Given the description of an element on the screen output the (x, y) to click on. 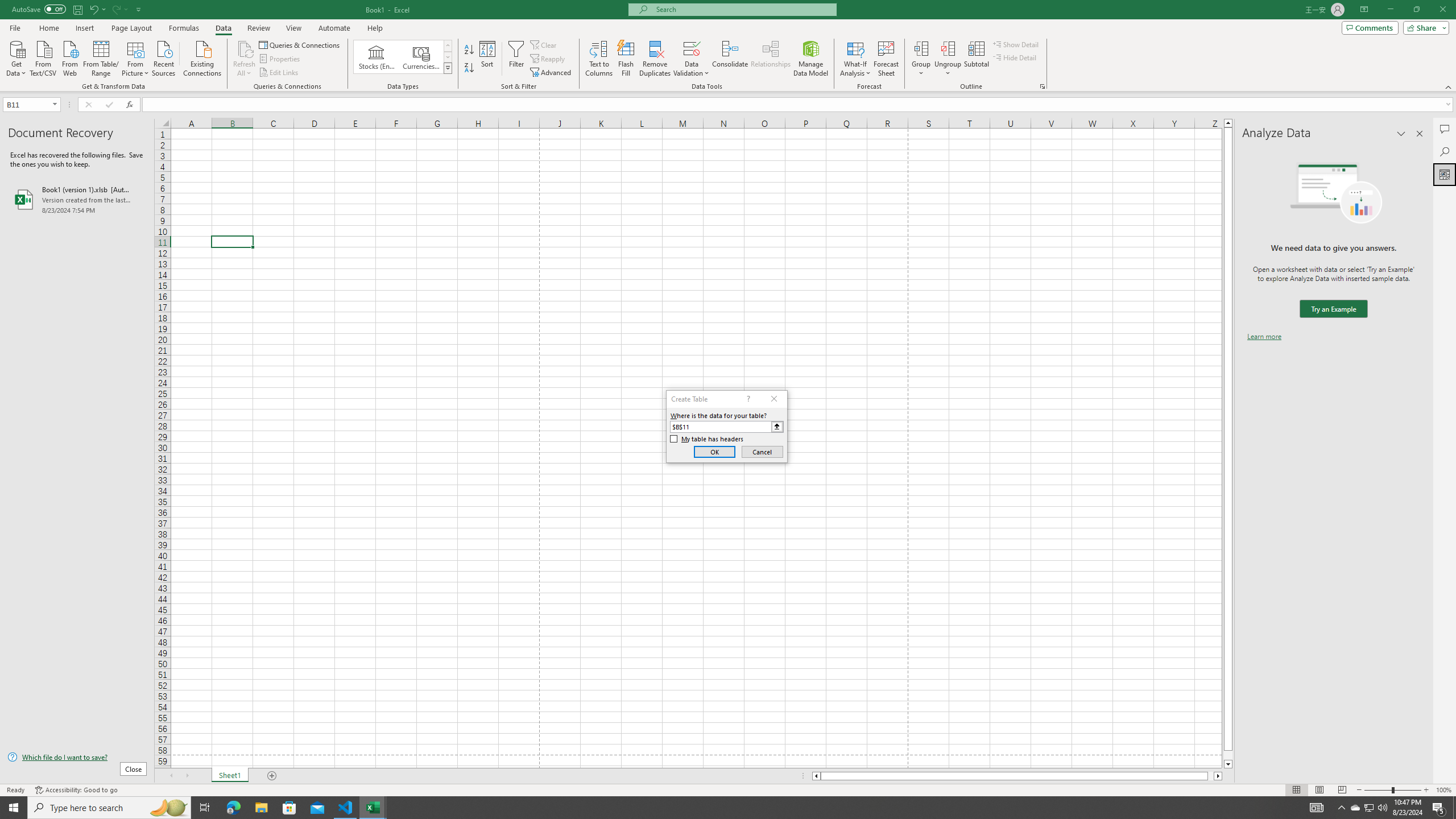
AutomationID: ConvertToLinkedEntity (403, 56)
Accessibility Checker Accessibility: Good to go (76, 790)
Group and Outline Settings (1042, 85)
